Given the description of an element on the screen output the (x, y) to click on. 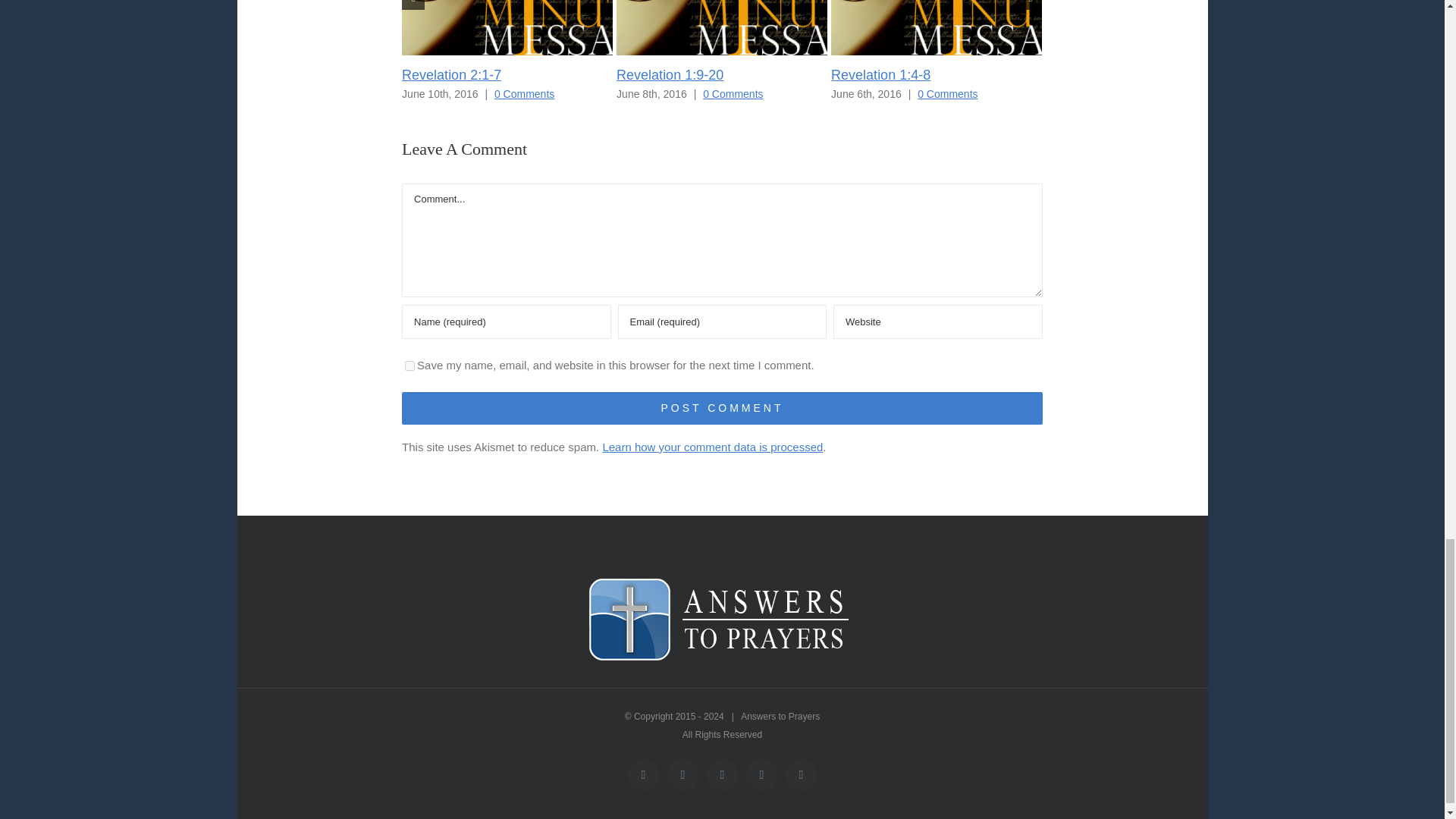
Revelation 1:4-8 (880, 74)
Revelation 2:1-7 (450, 74)
0 Comments (732, 93)
Revelation 1:9-20 (669, 74)
0 Comments (524, 93)
Post Comment (721, 408)
0 Comments (946, 93)
yes (409, 366)
